Given the description of an element on the screen output the (x, y) to click on. 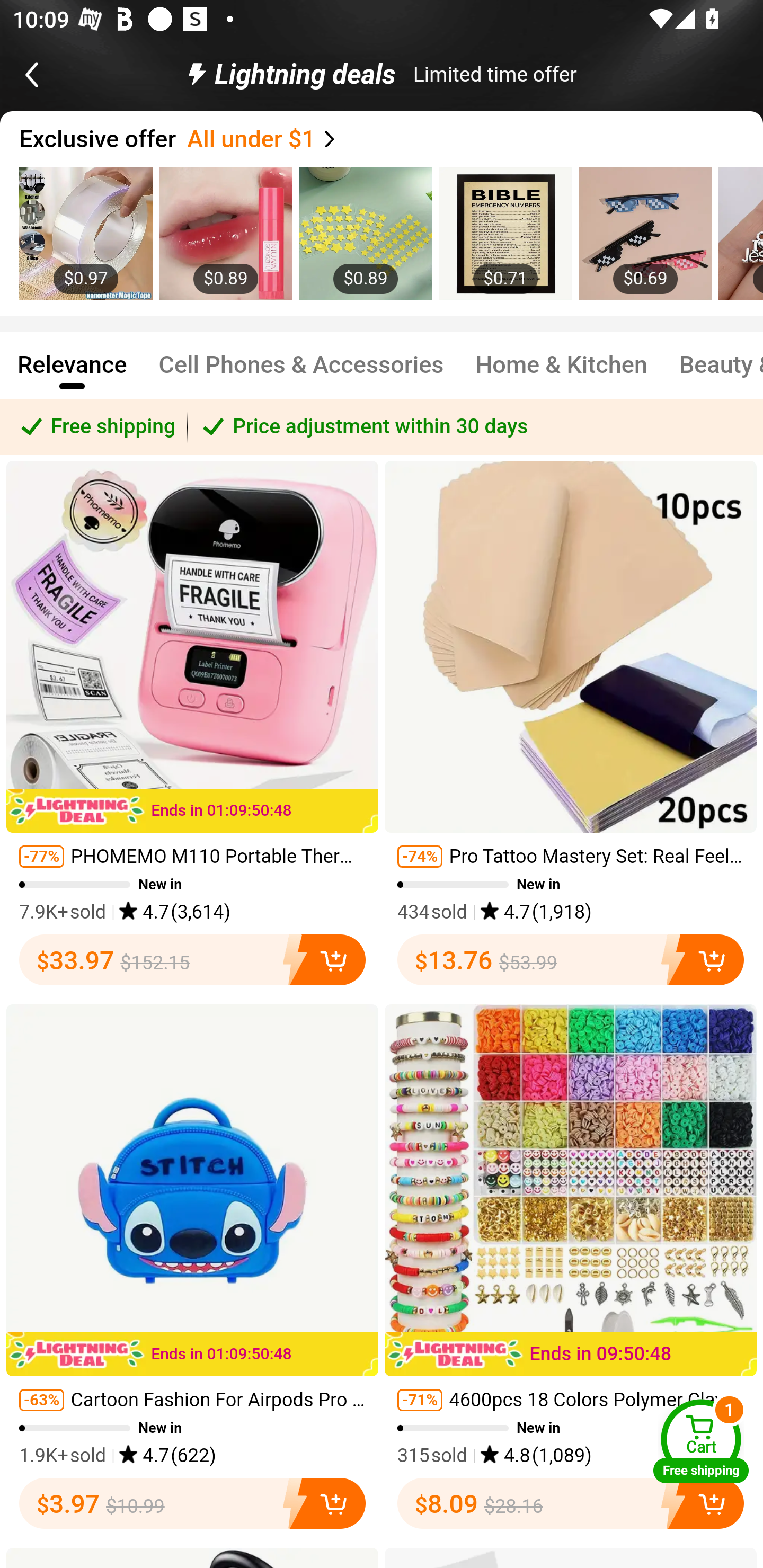
Exclusive offer All under $1 (391, 138)
Relevance (72, 373)
Cell Phones & Accessories (300, 373)
Home & Kitchen (561, 373)
Free shipping (94, 426)
Price adjustment within 30 days (475, 426)
$33.97 $152.15 (192, 959)
$13.76 $53.99 (570, 959)
Cart Free shipping Cart (701, 1440)
$3.97 $10.99 (192, 1503)
$8.09 $28.16 (570, 1503)
